Given the description of an element on the screen output the (x, y) to click on. 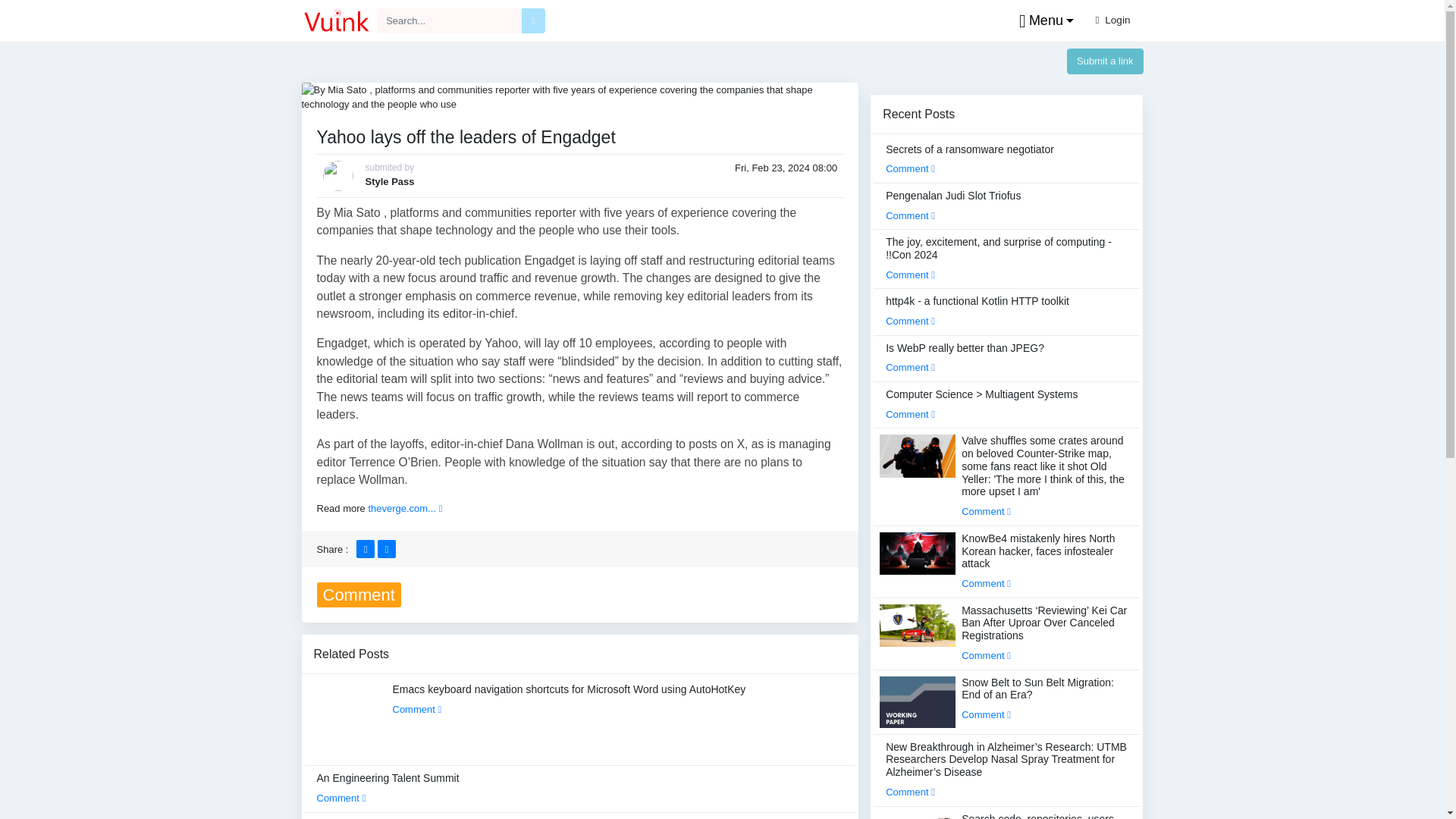
Menu (1043, 20)
An Engineering Talent Summit (388, 787)
Comment (341, 797)
Yahoo lays off the leaders of Engadget (580, 96)
Submit a link (1104, 61)
Comment (417, 708)
theverge.com... (405, 508)
